Given the description of an element on the screen output the (x, y) to click on. 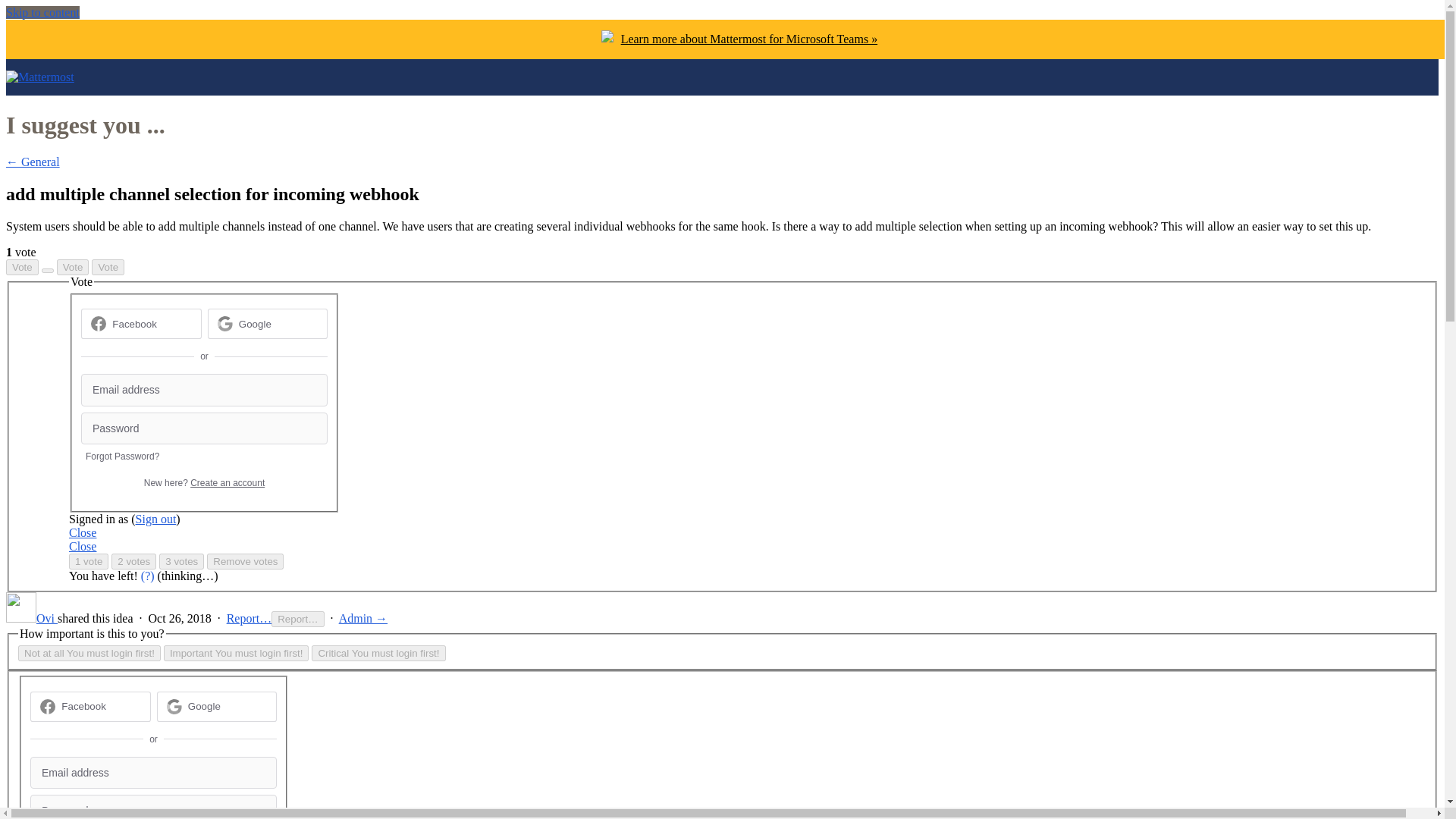
Google (215, 706)
Voting has closed (107, 267)
Ovi (31, 617)
Facebook sign in (90, 706)
Close (82, 545)
Remove votes (244, 561)
1 vote (87, 561)
Facebook (90, 706)
Google sign in (268, 323)
Facebook sign in (141, 323)
Sign out (155, 518)
Google (204, 706)
Important You must login first! (235, 652)
Forgot Password? (122, 456)
